Given the description of an element on the screen output the (x, y) to click on. 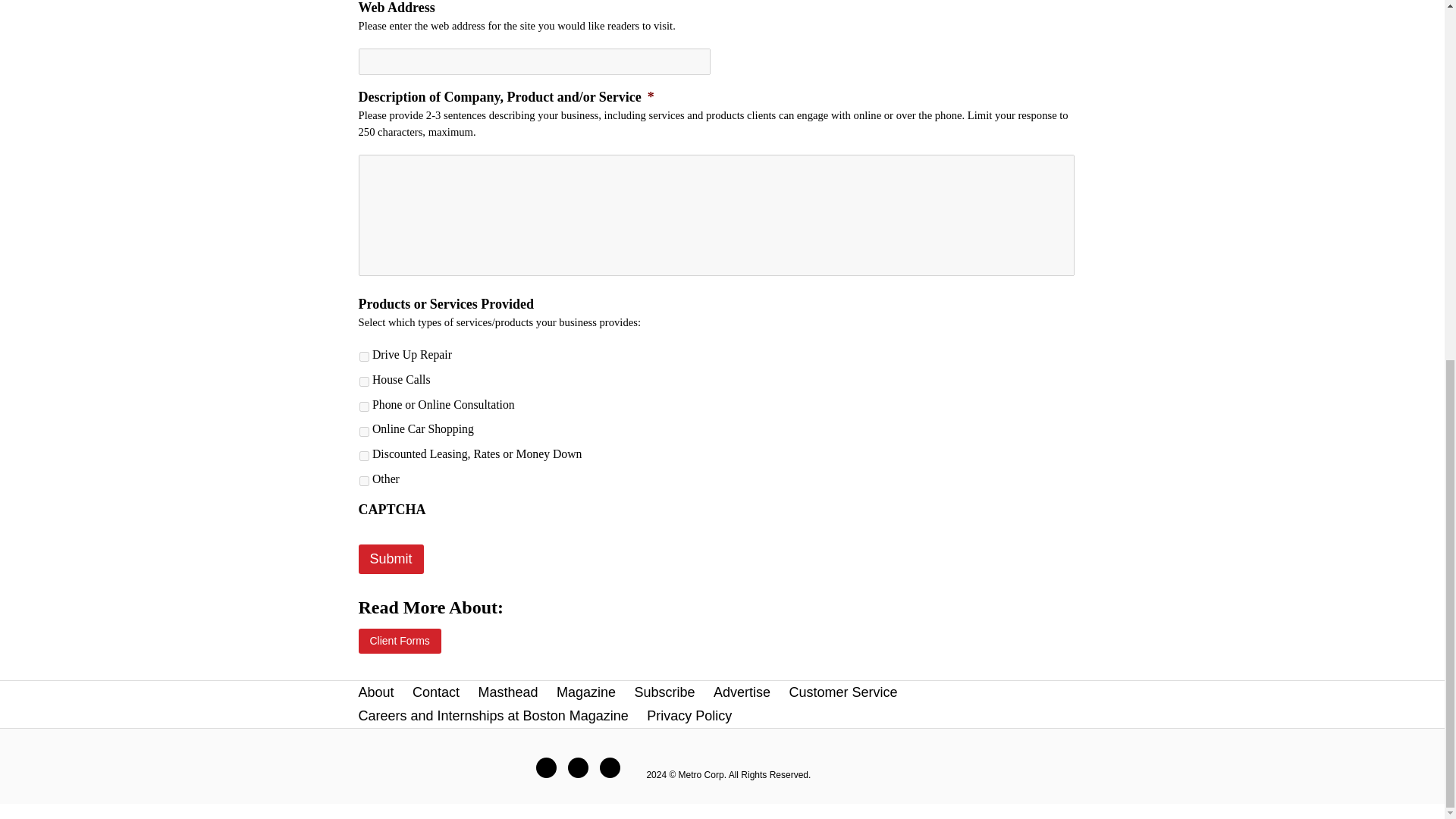
Other (364, 480)
Drive Up Repair (364, 356)
Submit (390, 559)
House Calls (364, 381)
Discounted Leasing, Rates or Money Down (364, 456)
Online Car Shopping (364, 431)
Phone or Online Consultation (364, 406)
